Given the description of an element on the screen output the (x, y) to click on. 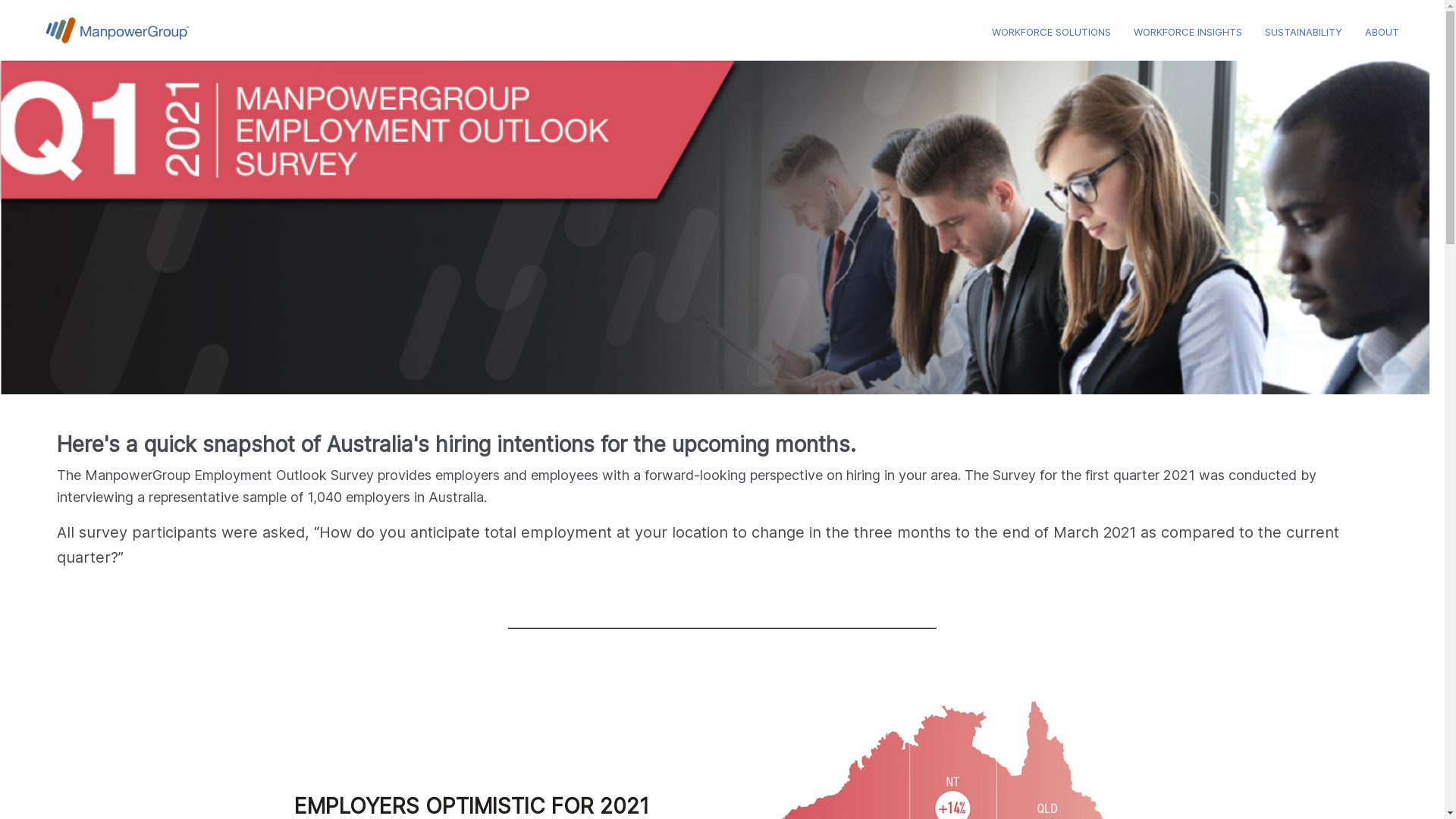
ABOUT Element type: text (1382, 31)
WORKFORCE SOLUTIONS Element type: text (1050, 31)
SUSTAINABILITY Element type: text (1303, 31)
WORKFORCE INSIGHTS Element type: text (1187, 31)
